Given the description of an element on the screen output the (x, y) to click on. 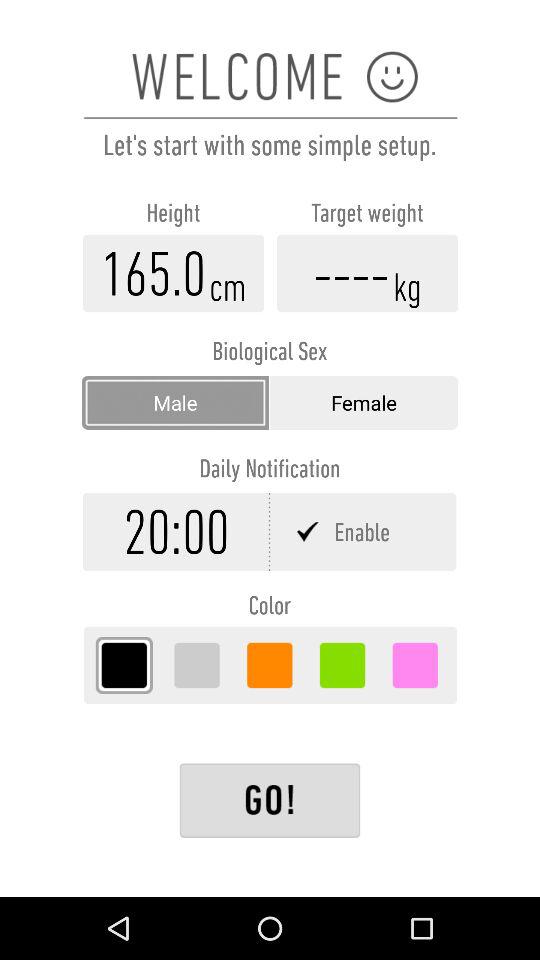
go do go (269, 800)
